Given the description of an element on the screen output the (x, y) to click on. 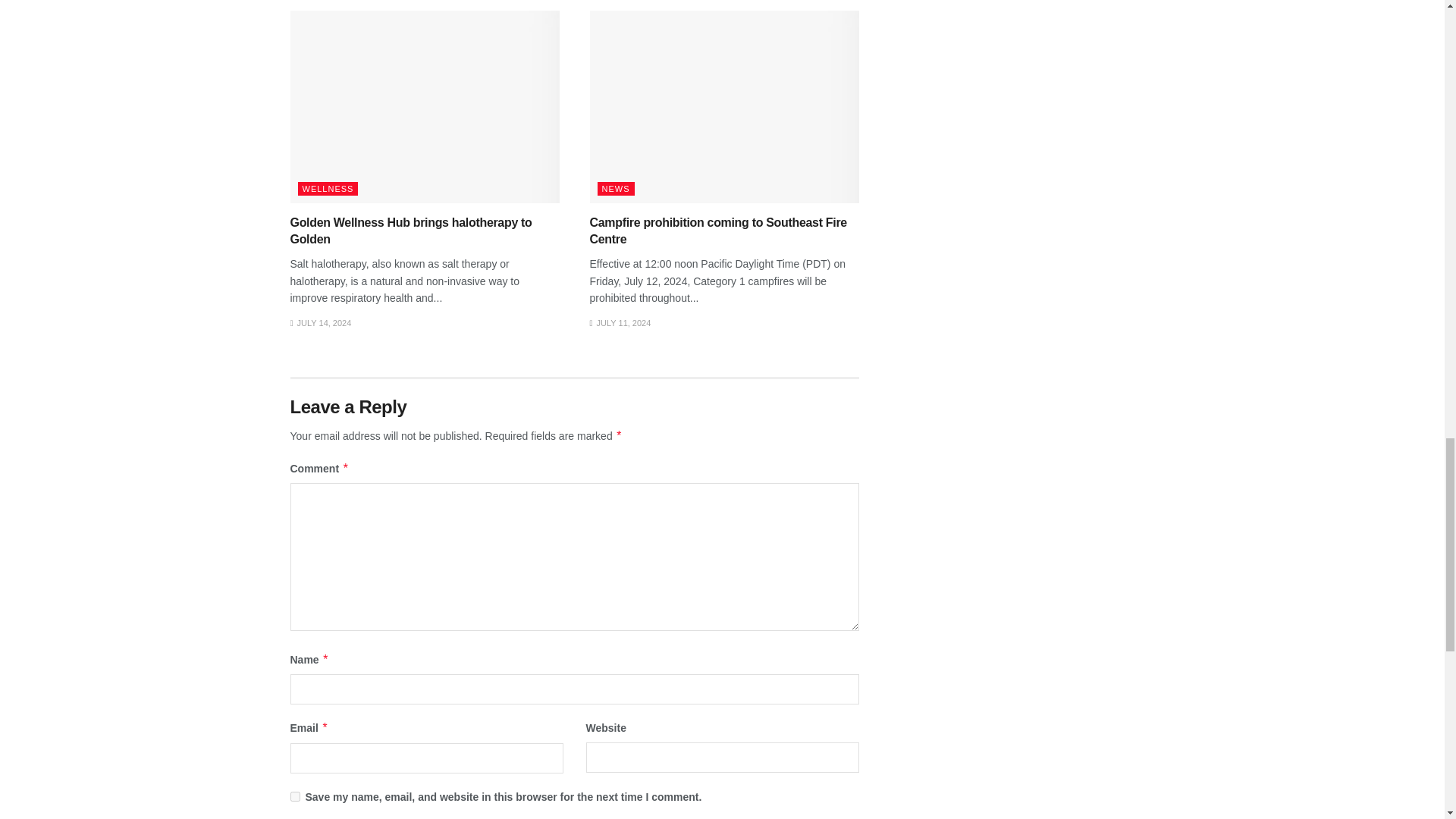
3rd party ad content (1023, 98)
yes (294, 796)
